Given the description of an element on the screen output the (x, y) to click on. 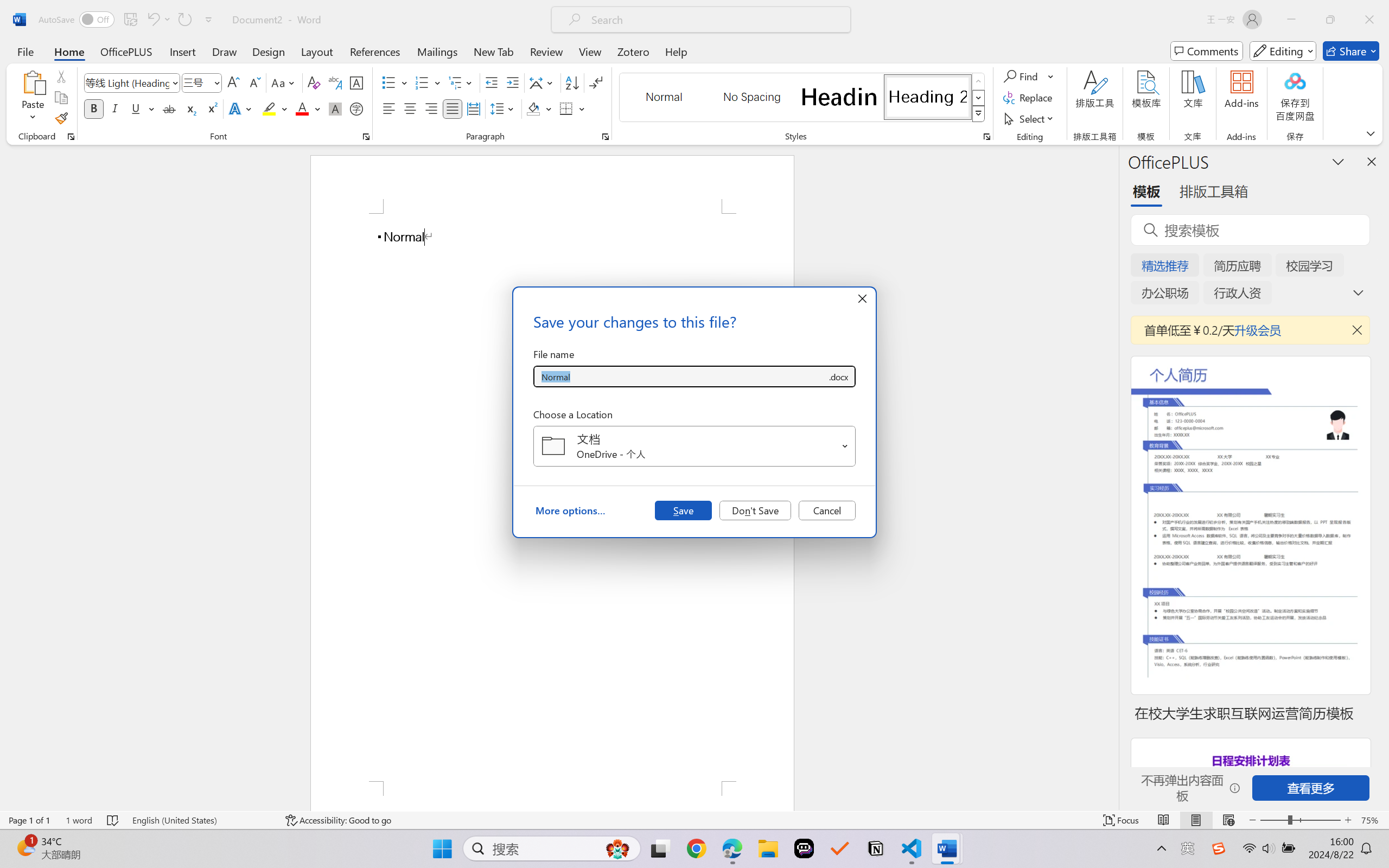
Layout (316, 51)
Align Left (388, 108)
Asian Layout (542, 82)
Office Clipboard... (70, 136)
Read Mode (1163, 819)
Bold (94, 108)
Increase Indent (512, 82)
Focus  (1121, 819)
AutomationID: DynamicSearchBoxGleamImage (617, 848)
Spelling and Grammar Check No Errors (113, 819)
Language English (United States) (201, 819)
Home (69, 51)
Undo Typing (152, 19)
Share (1350, 51)
